Given the description of an element on the screen output the (x, y) to click on. 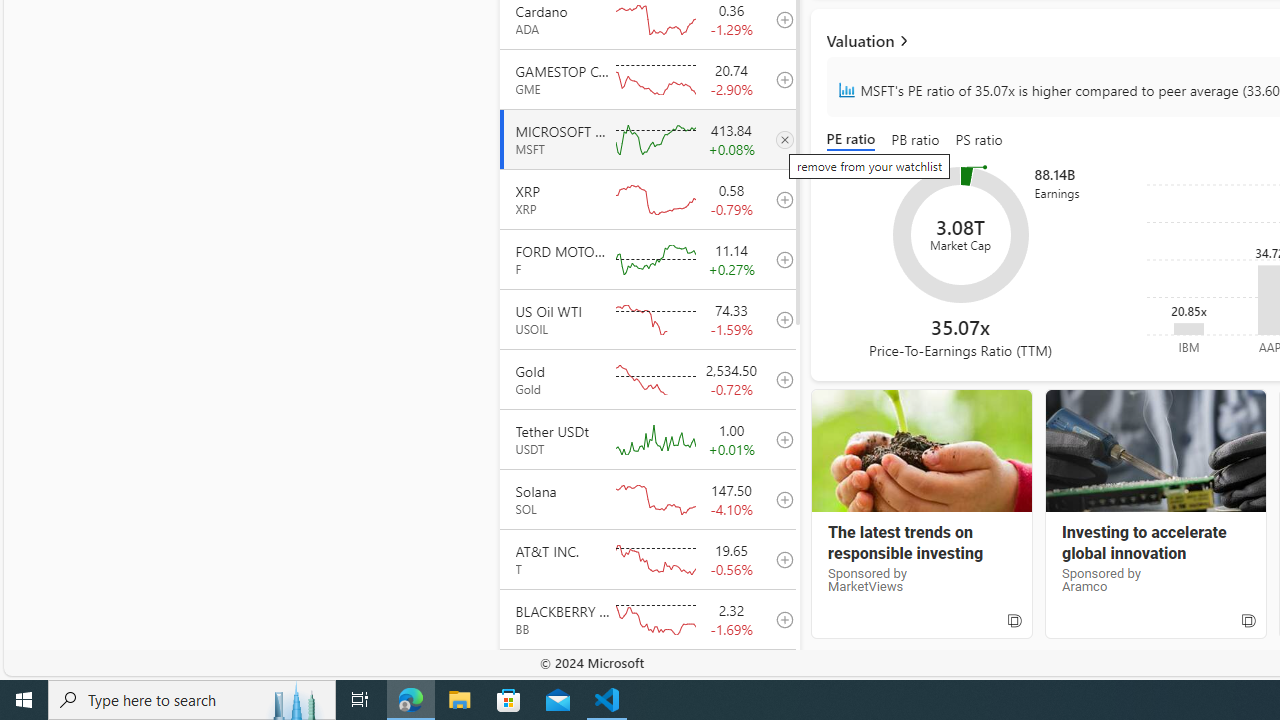
Class: recharts-surface (959, 234)
Aramco (1154, 451)
add to your watchlist (779, 678)
PS ratio (979, 140)
